Given the description of an element on the screen output the (x, y) to click on. 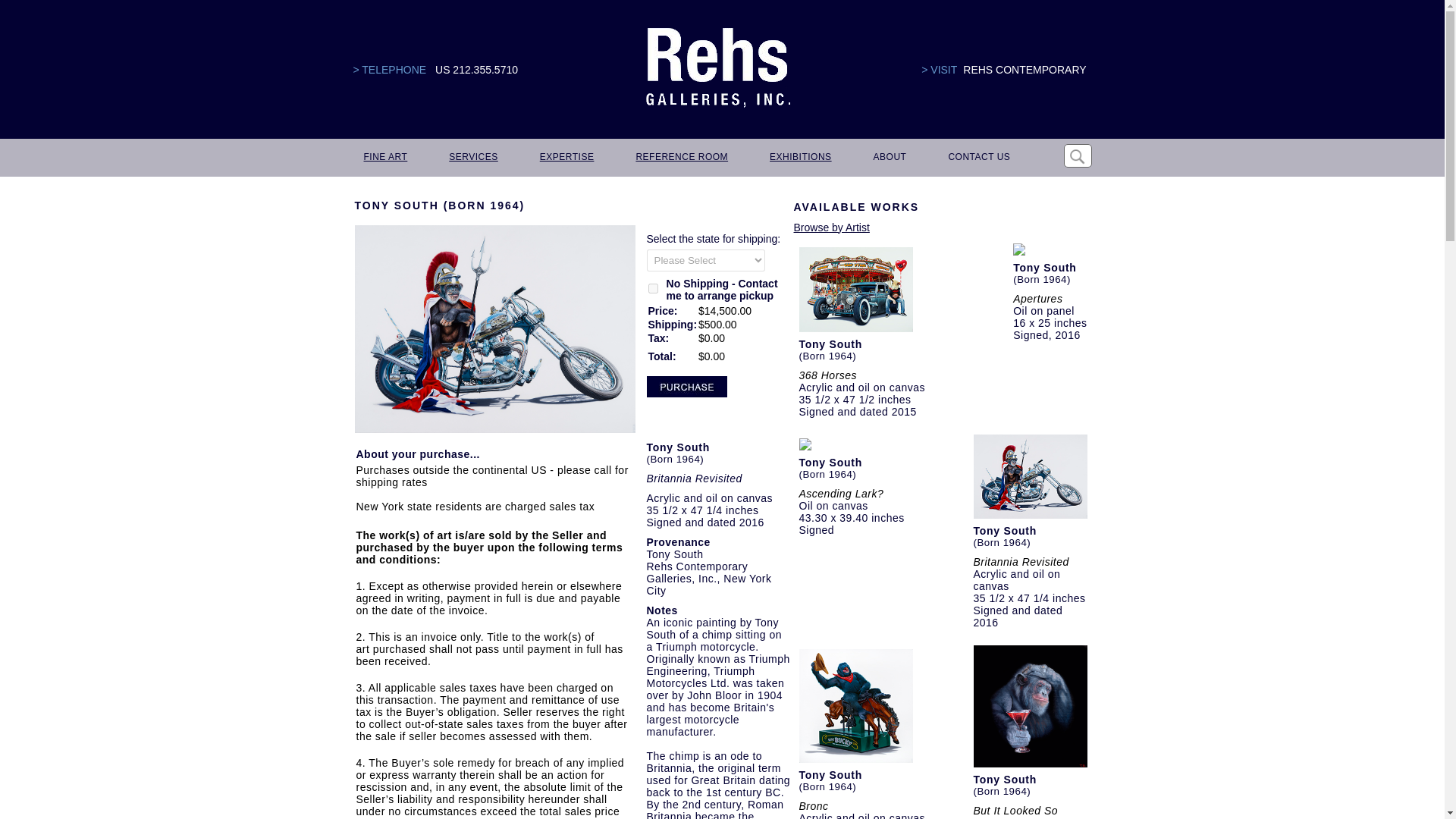
on (652, 288)
Logo (717, 67)
CONTACT US (978, 157)
Browse by Artist (831, 227)
REFERENCE ROOM (680, 157)
368 Horses (828, 375)
Apertures (1037, 298)
EXHIBITIONS (799, 157)
REHS CONTEMPORARY (1024, 69)
SERVICES (472, 157)
FINE ART (384, 157)
ABOUT (889, 157)
EXPERTISE (566, 157)
